Given the description of an element on the screen output the (x, y) to click on. 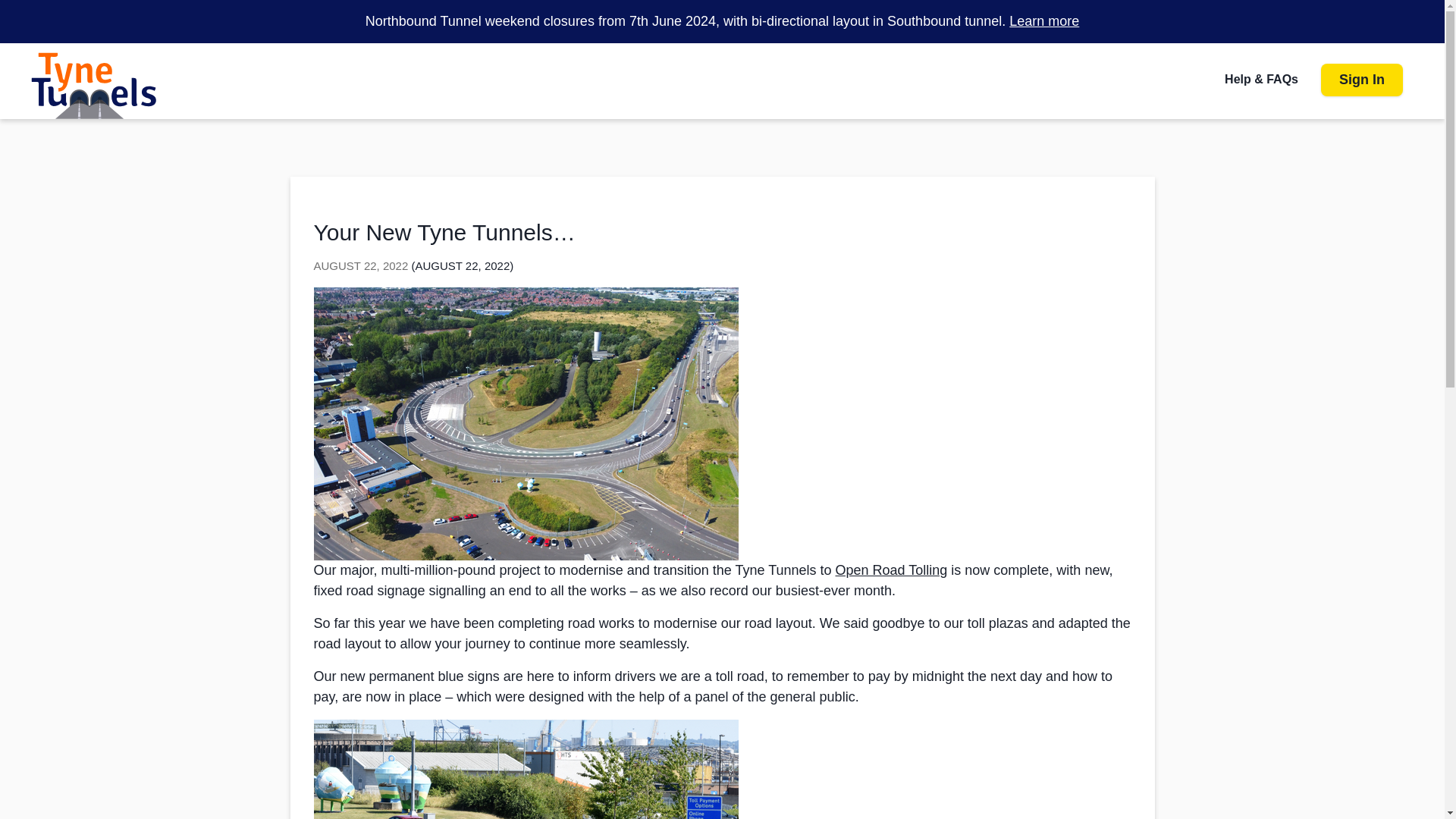
Open Road Tolling (891, 570)
Sign In (1361, 79)
Sign In (1361, 79)
Learn more (1043, 20)
Tyne Tunnel 2 (93, 85)
